Given the description of an element on the screen output the (x, y) to click on. 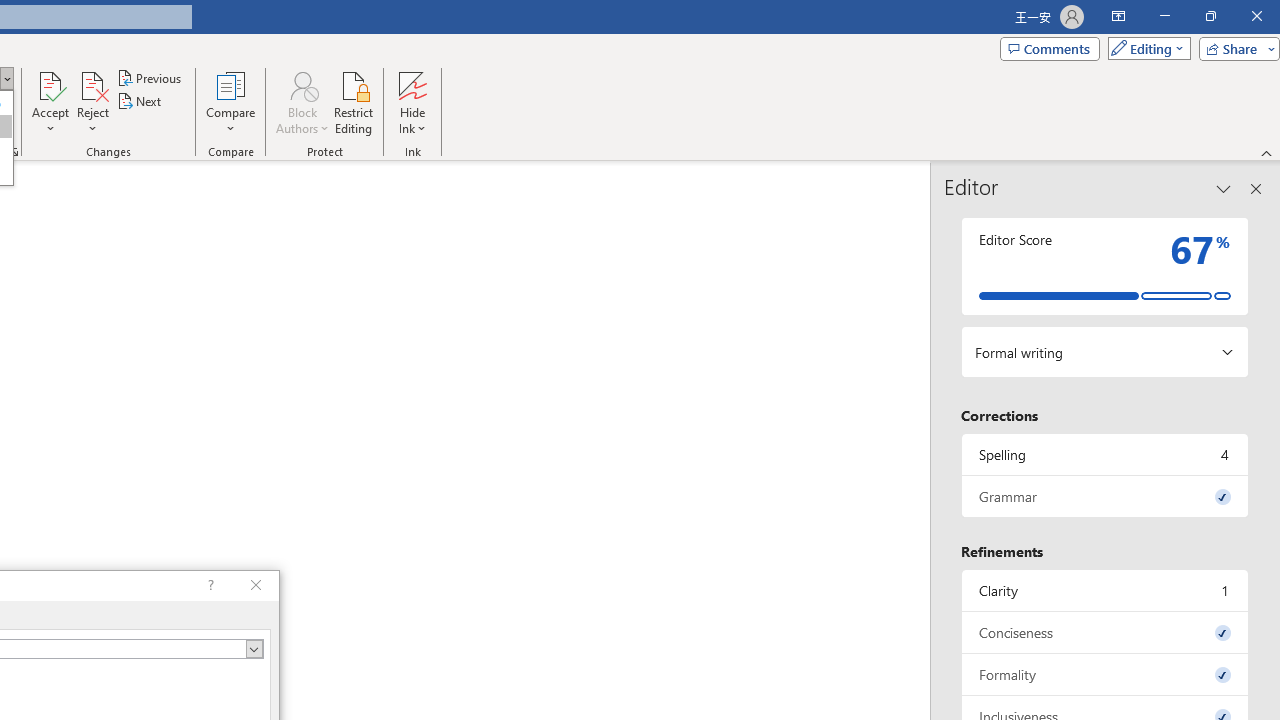
Context help (208, 585)
